Given the description of an element on the screen output the (x, y) to click on. 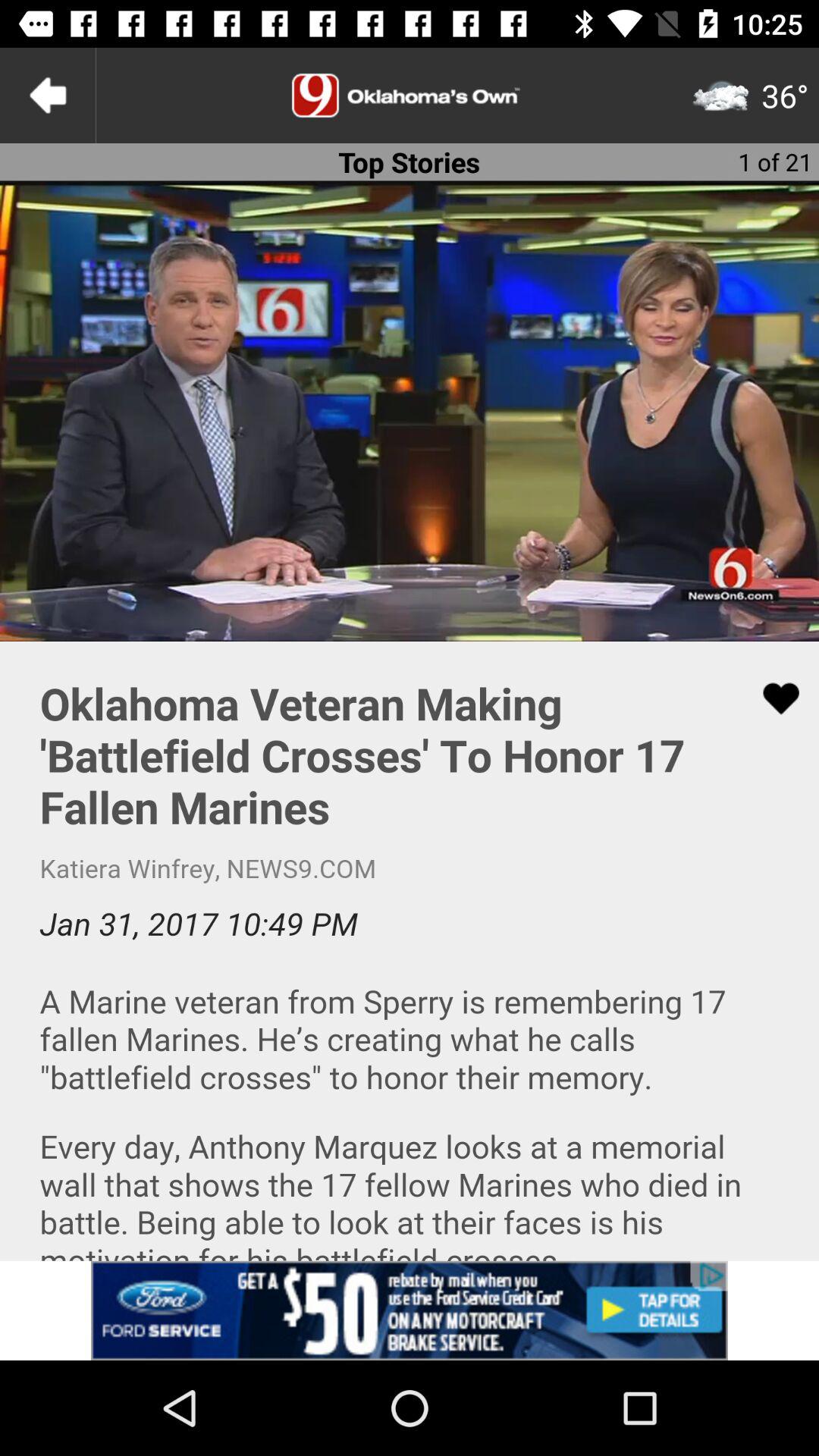
like (771, 698)
